Given the description of an element on the screen output the (x, y) to click on. 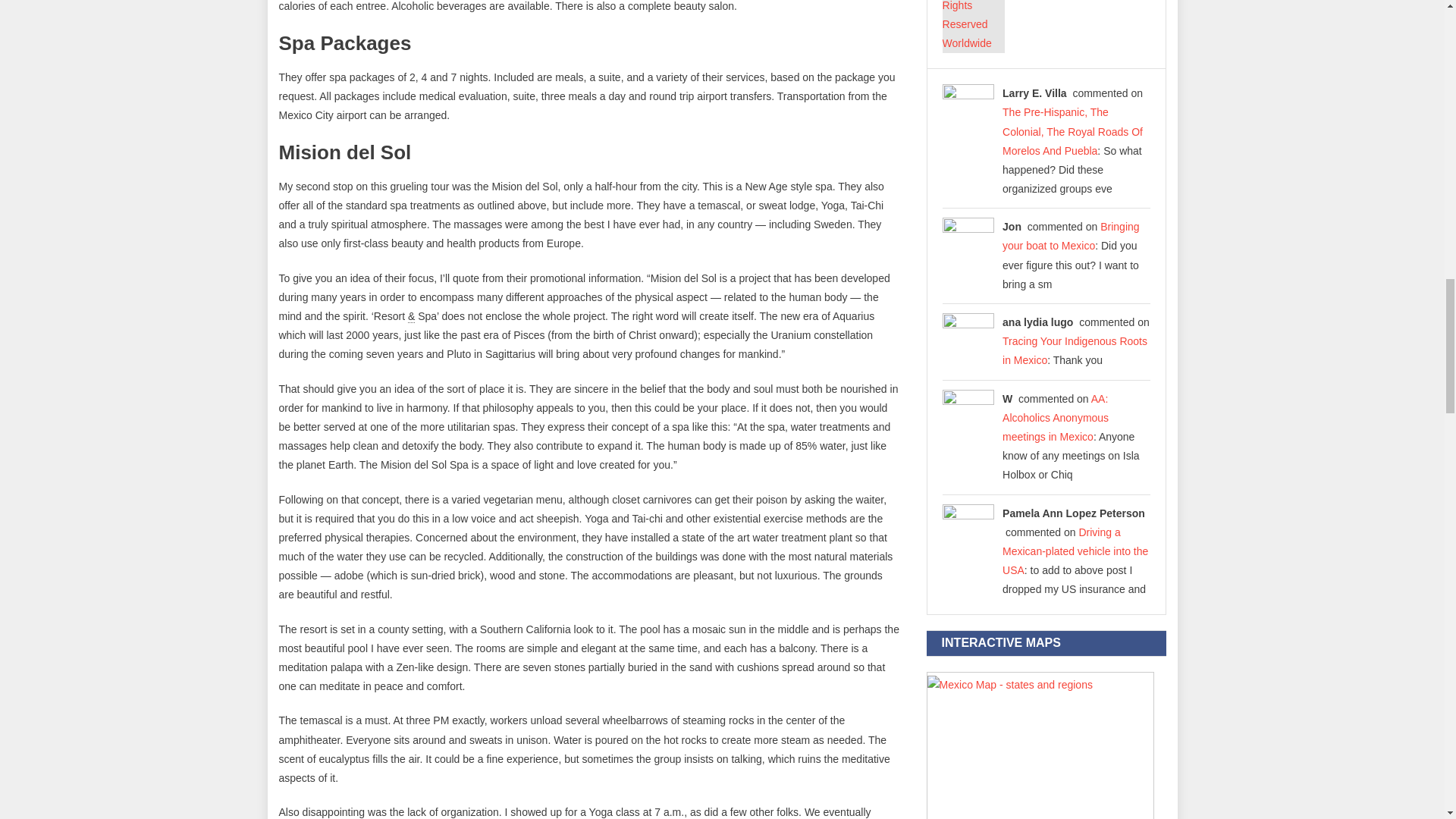
Tracing Your Indigenous Roots in Mexico (1075, 350)
Bringing your boat to Mexico (1071, 235)
AA: Alcoholics Anonymous meetings in Mexico (1055, 418)
Driving a Mexican-plated vehicle into the USA (1075, 551)
